Given the description of an element on the screen output the (x, y) to click on. 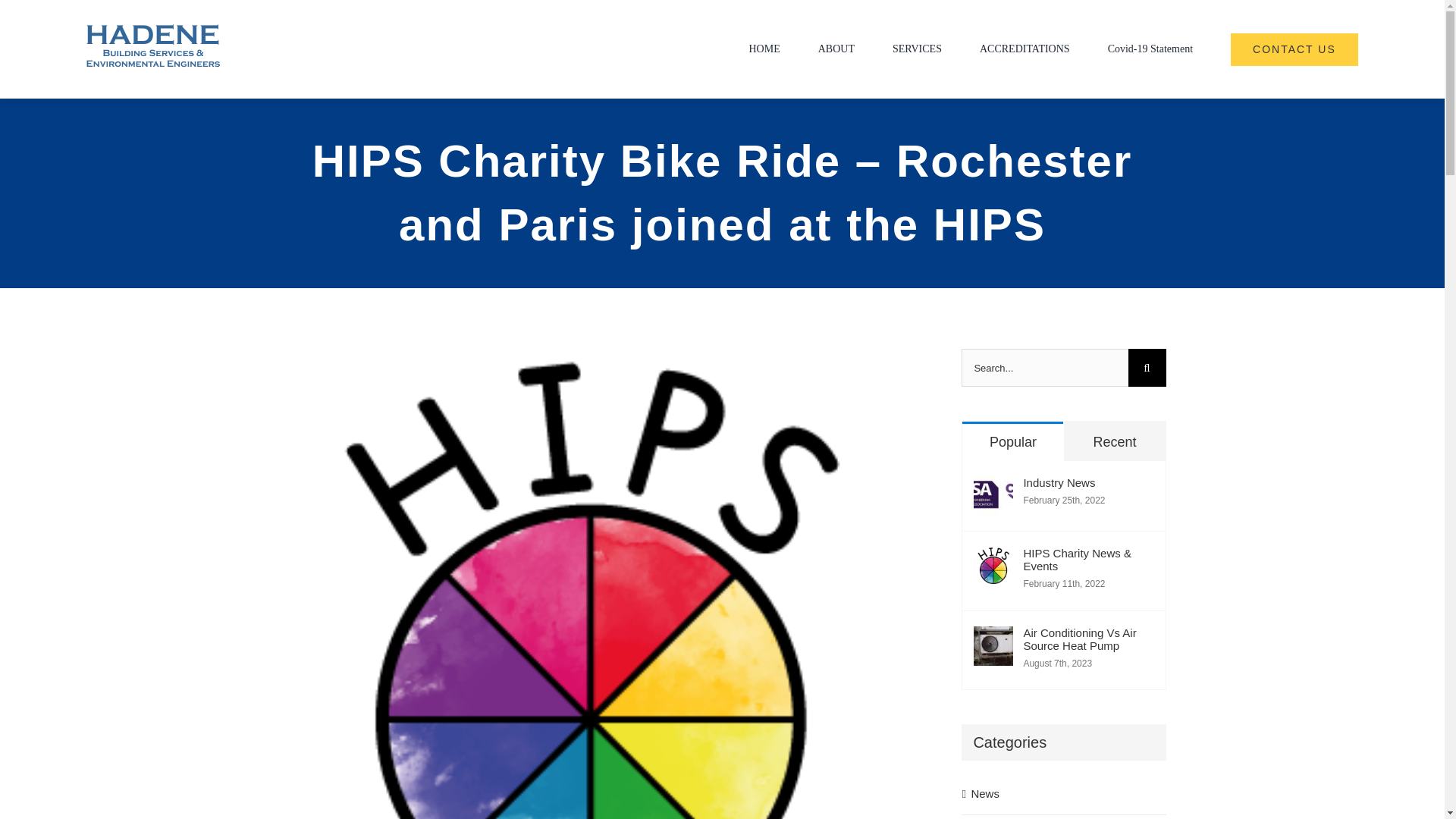
CONTACT US (1294, 49)
ACCREDITATIONS (1024, 49)
Recent (1114, 441)
Popular (1012, 441)
Industry News (1088, 481)
Air Conditioning Vs Air Source Heat Pump (1088, 638)
